Given the description of an element on the screen output the (x, y) to click on. 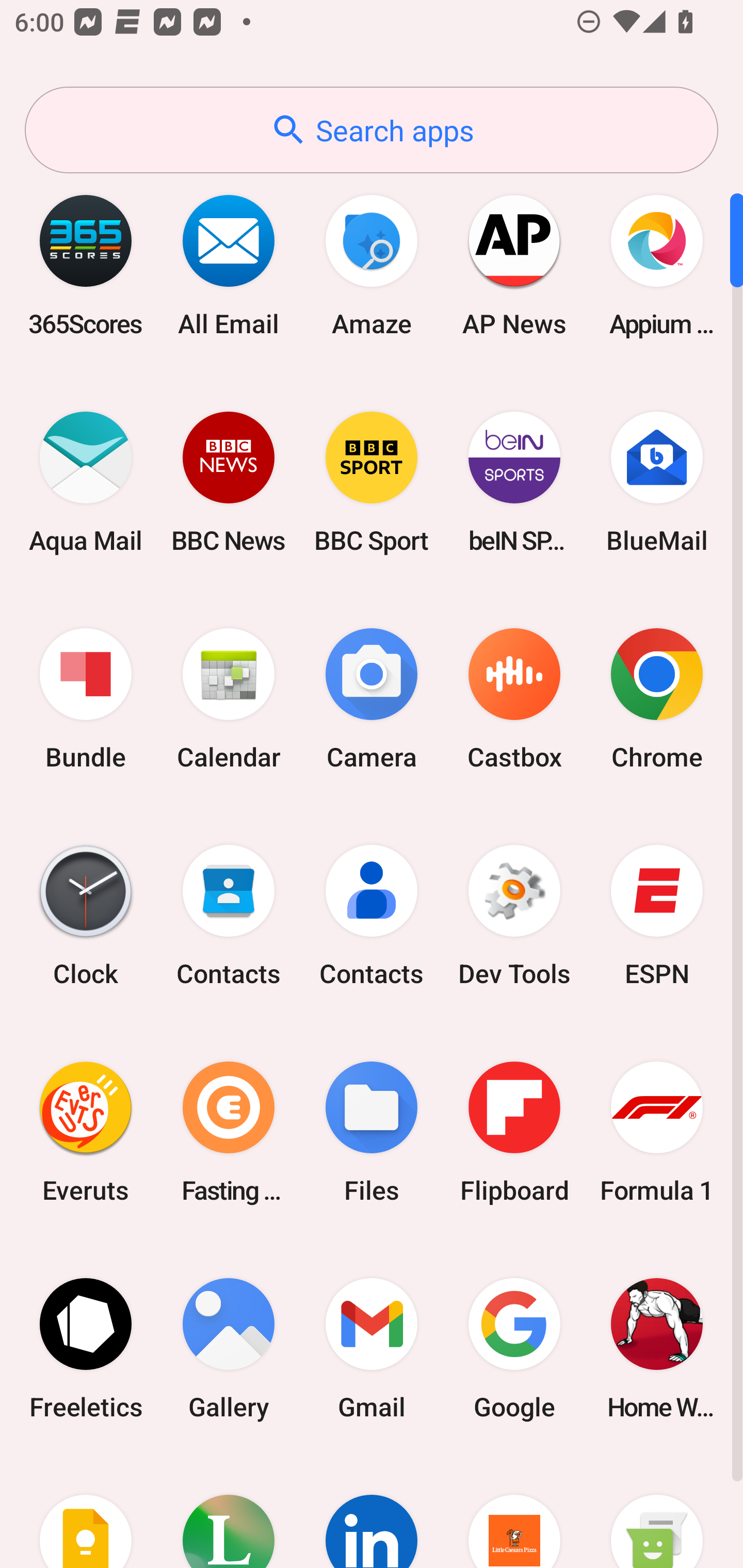
  Search apps (371, 130)
365Scores (85, 264)
All Email (228, 264)
Amaze (371, 264)
AP News (514, 264)
Appium Settings (656, 264)
Aqua Mail (85, 482)
BBC News (228, 482)
BBC Sport (371, 482)
beIN SPORTS (514, 482)
BlueMail (656, 482)
Bundle (85, 699)
Calendar (228, 699)
Camera (371, 699)
Castbox (514, 699)
Chrome (656, 699)
Clock (85, 915)
Contacts (228, 915)
Contacts (371, 915)
Dev Tools (514, 915)
ESPN (656, 915)
Everuts (85, 1131)
Fasting Coach (228, 1131)
Files (371, 1131)
Flipboard (514, 1131)
Formula 1 (656, 1131)
Freeletics (85, 1348)
Gallery (228, 1348)
Gmail (371, 1348)
Google (514, 1348)
Home Workout (656, 1348)
